Given the description of an element on the screen output the (x, y) to click on. 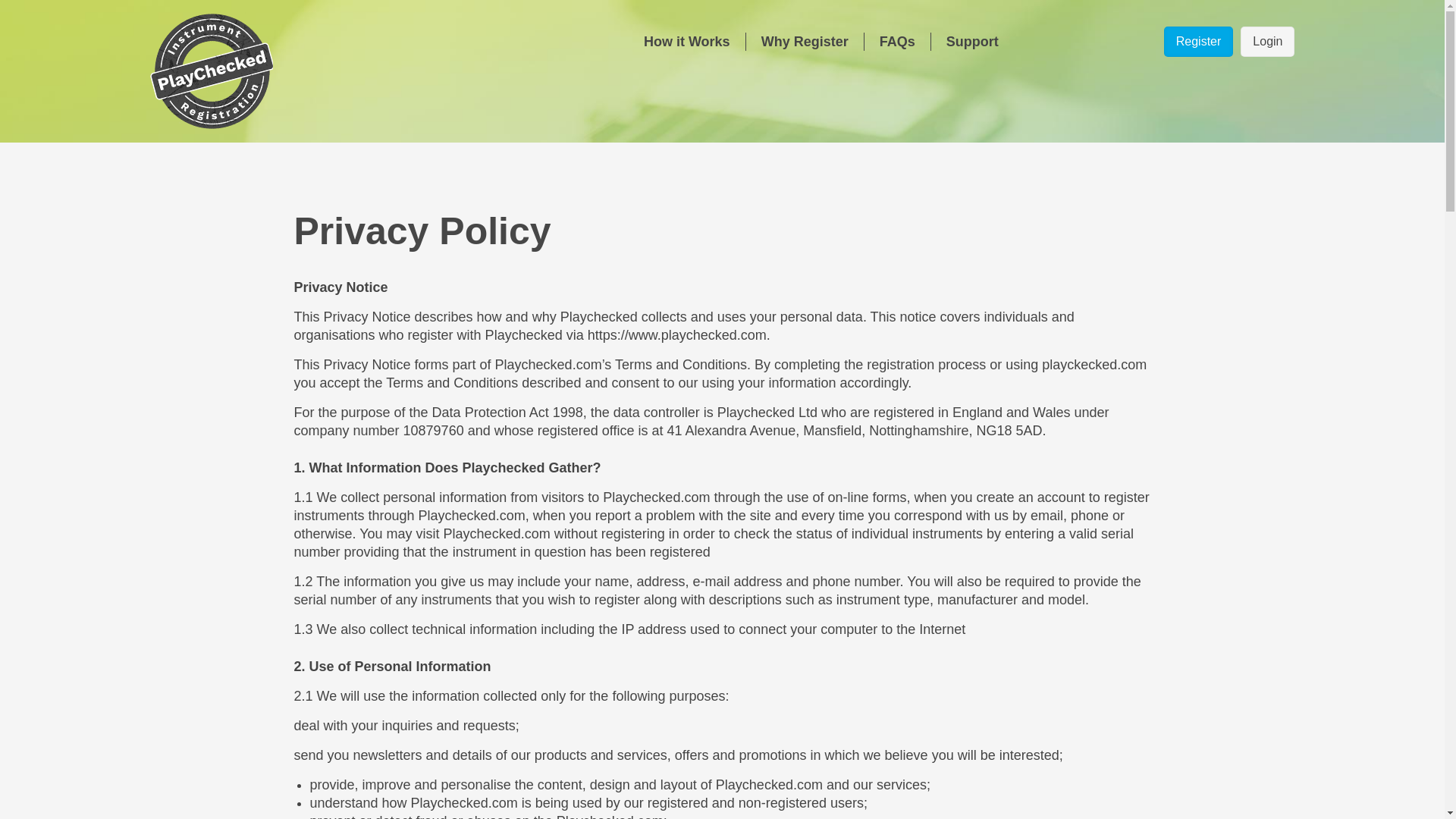
Support (972, 41)
FAQs (897, 41)
Register (1198, 41)
How it Works (694, 41)
Why Register (804, 41)
Login (1267, 41)
